Given the description of an element on the screen output the (x, y) to click on. 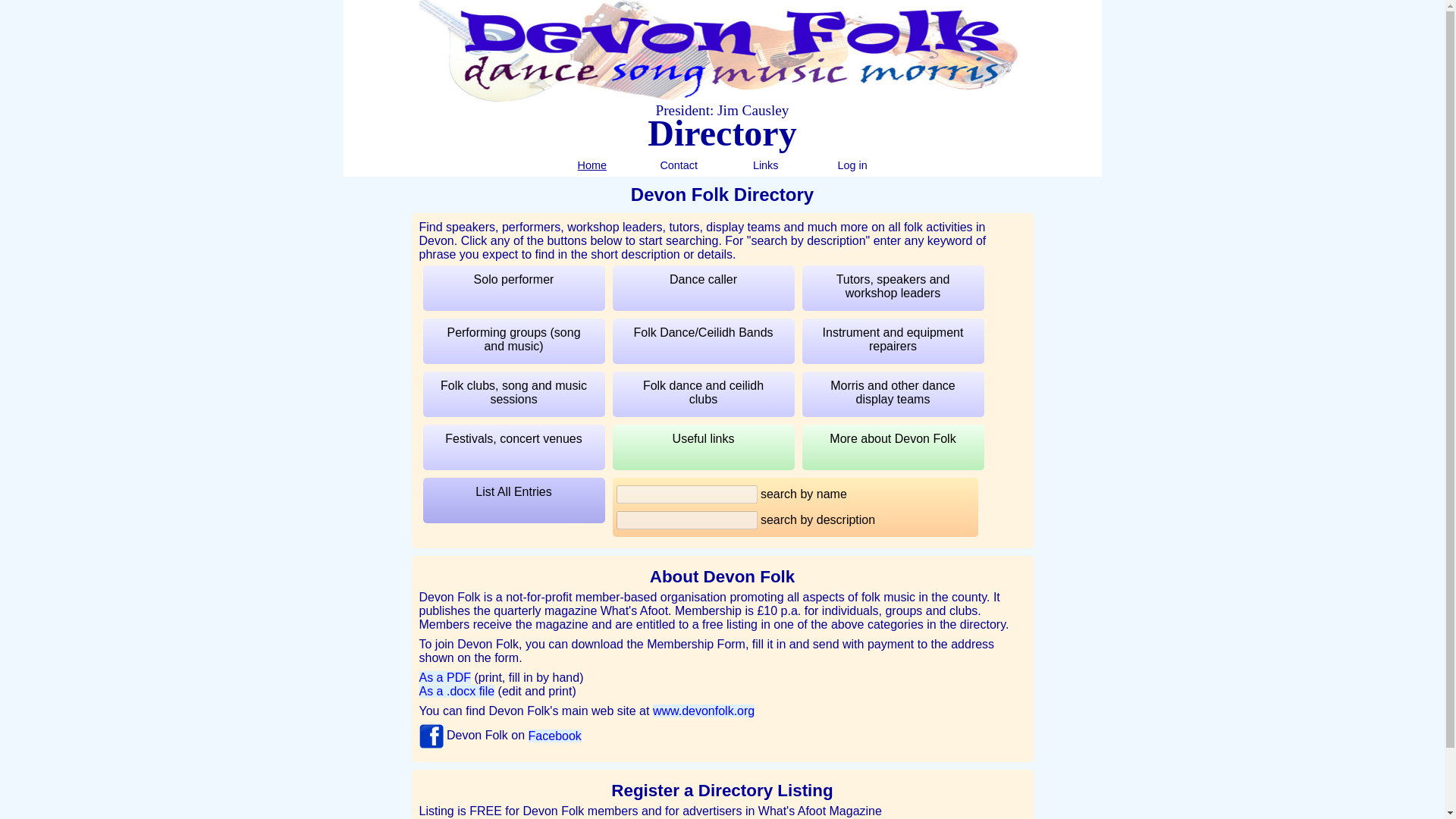
Instrument and equipment repairers (893, 340)
Facebook (554, 735)
List All Entries (514, 500)
More about Devon Folk (893, 447)
Folk clubs, song and music sessions (514, 393)
Useful links (703, 447)
Solo performer (514, 288)
Dance caller (703, 288)
www.devonfolk.org (703, 710)
Log in (851, 164)
